Given the description of an element on the screen output the (x, y) to click on. 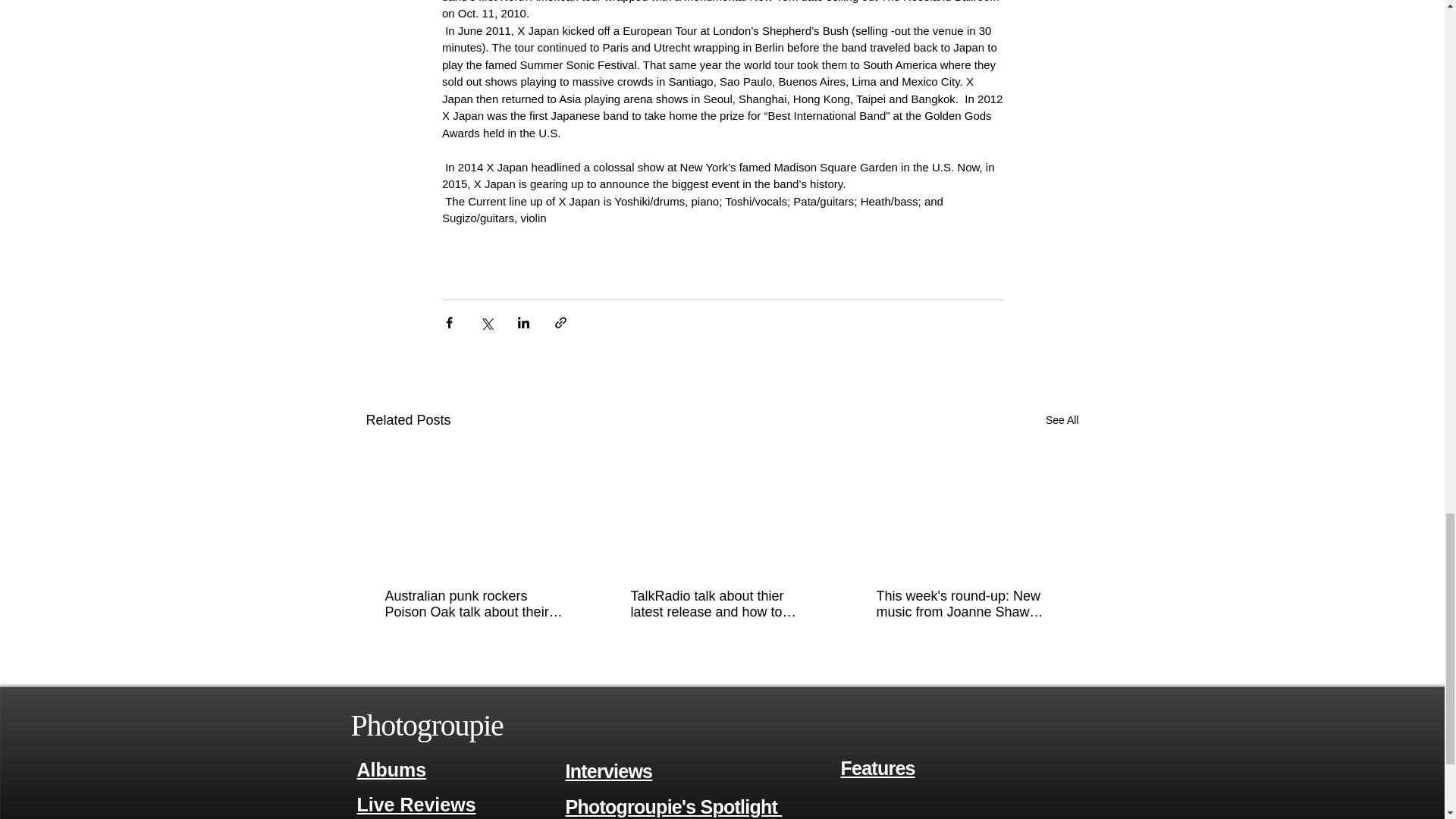
See All (1061, 420)
Albums (391, 770)
Live Reviews (416, 804)
Photogroupie (426, 725)
Interviews (609, 771)
Photogroupie's Spotlight  (674, 806)
